Given the description of an element on the screen output the (x, y) to click on. 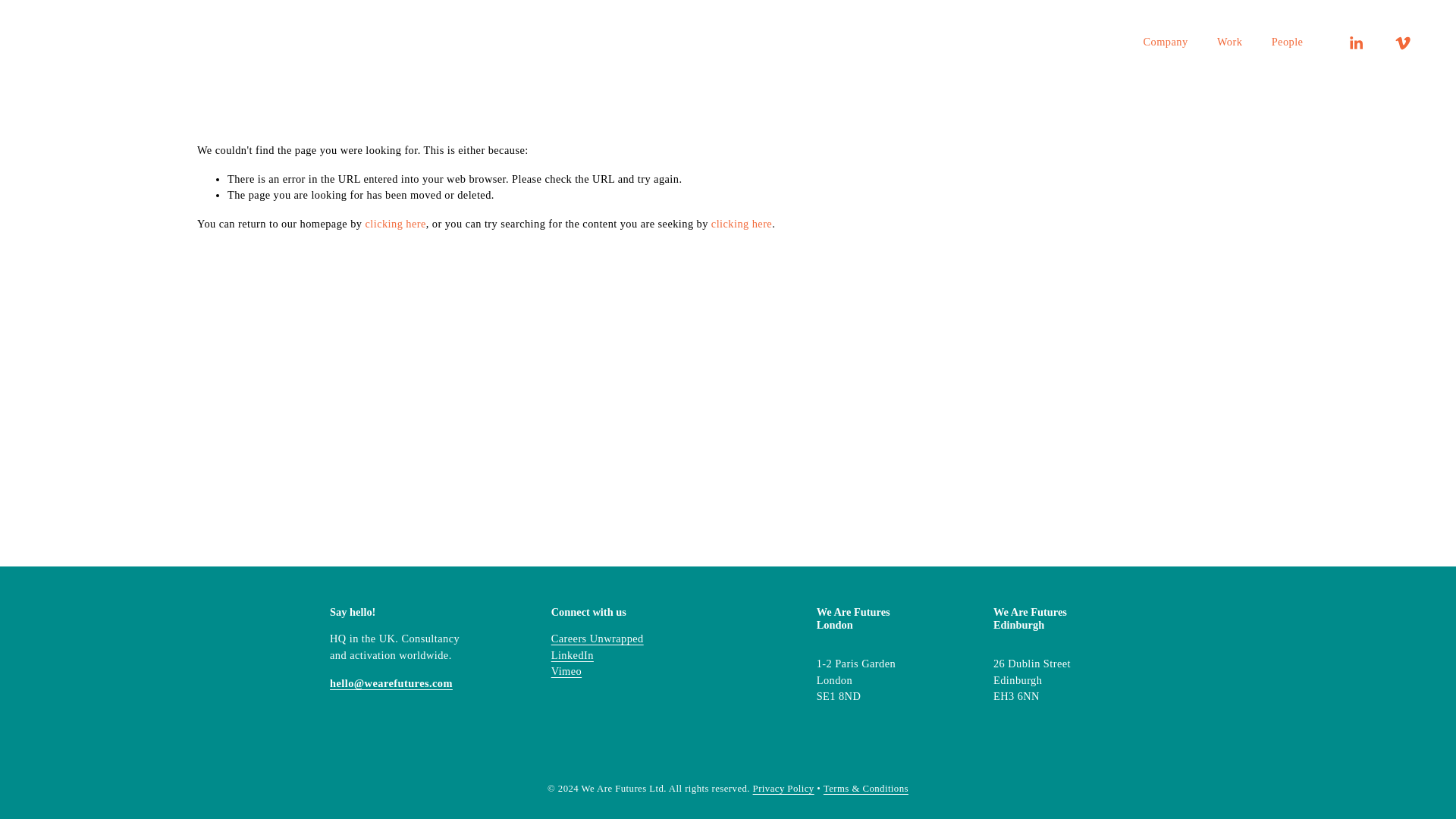
Company (1165, 41)
Work (1229, 41)
LinkedIn (572, 655)
Privacy Policy (782, 789)
clicking here (741, 223)
People (1287, 41)
clicking here (395, 223)
Careers Unwrapped (597, 638)
Vimeo (565, 671)
